Given the description of an element on the screen output the (x, y) to click on. 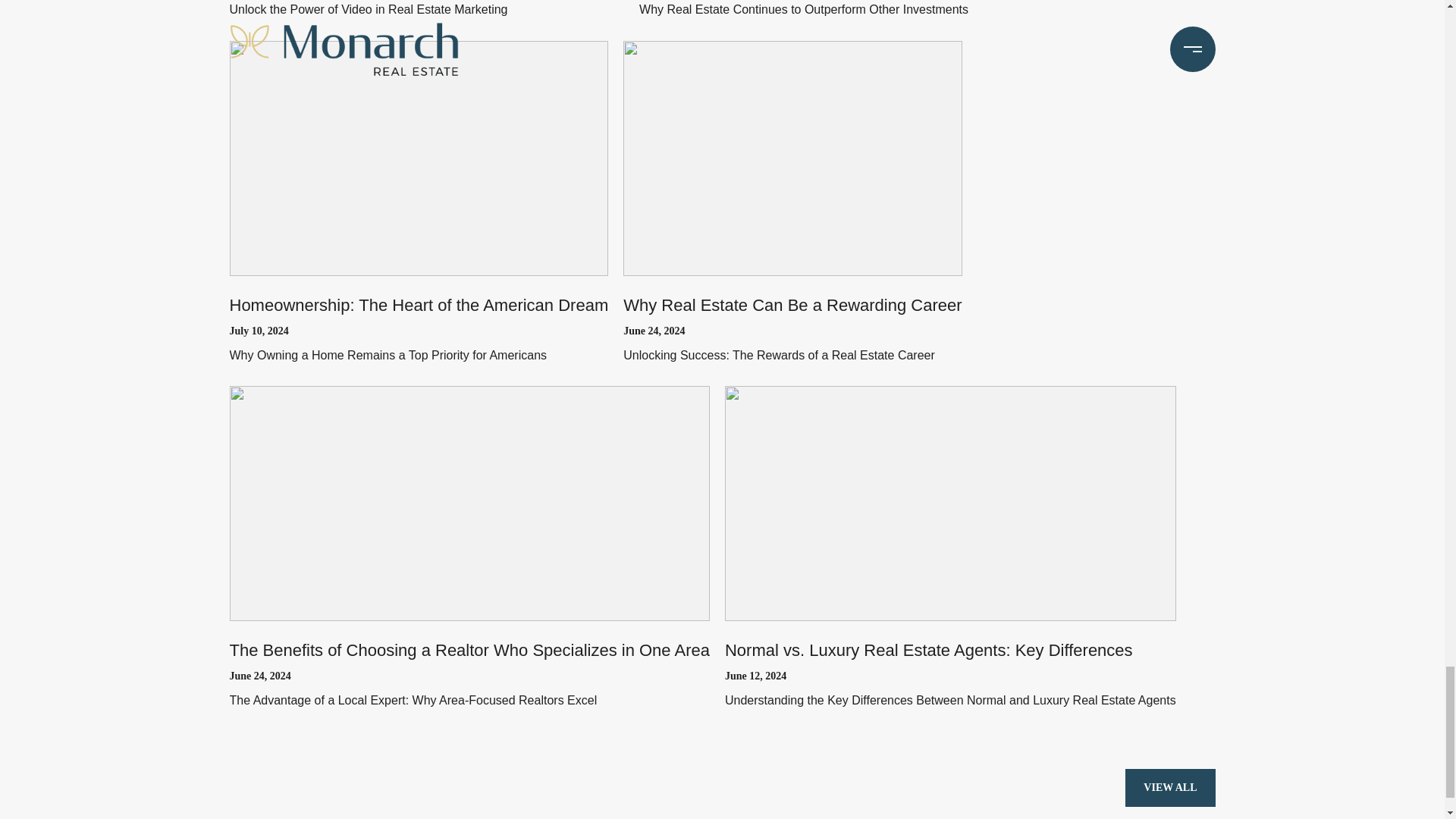
VIEW ALL (1169, 787)
